Given the description of an element on the screen output the (x, y) to click on. 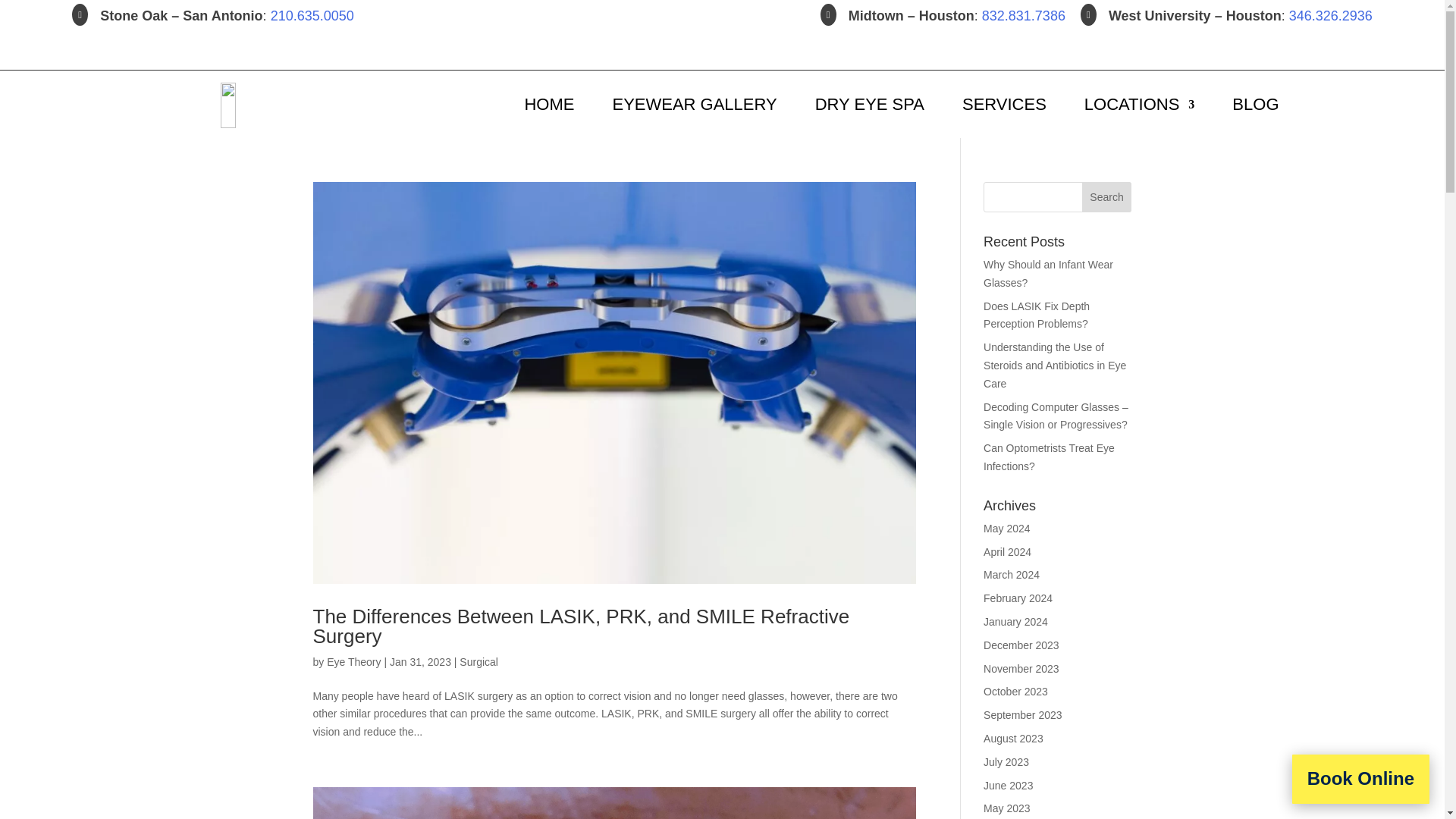
EYEWEAR GALLERY (693, 104)
210.635.0050 (311, 15)
832.831.7386 (1023, 15)
LOCATIONS (1139, 104)
346.326.2936 (1330, 15)
Search (1106, 196)
Posts by Eye Theory (353, 662)
BLOG (1254, 104)
DRY EYE SPA (869, 104)
SERVICES (1004, 104)
